Given the description of an element on the screen output the (x, y) to click on. 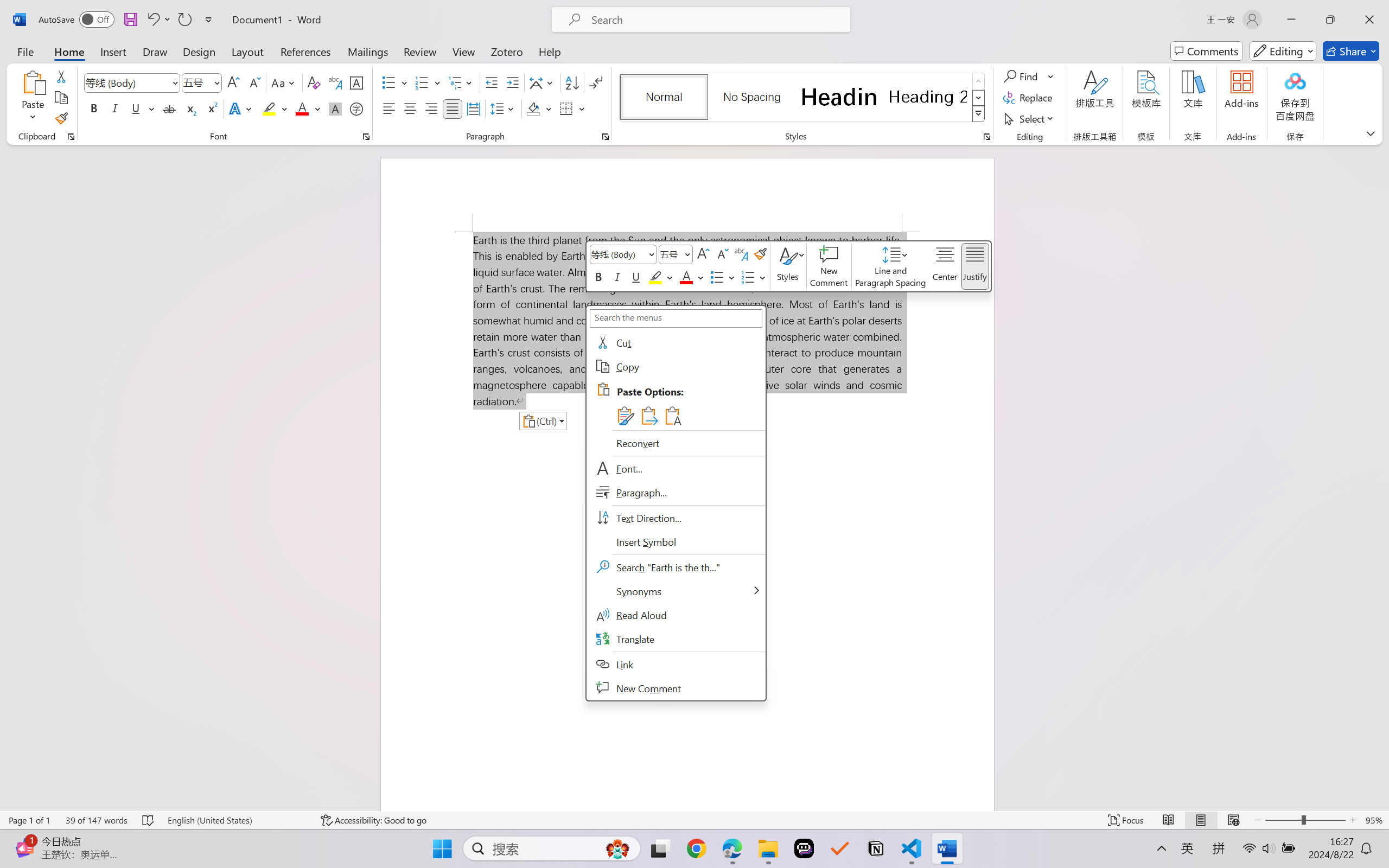
Show/Hide Editing Marks (595, 82)
Paste Options (688, 403)
Row up (978, 81)
Change Case (284, 82)
Distributed (473, 108)
Read Aloud (675, 614)
New Comment (675, 688)
Character Shading (334, 108)
